Given the description of an element on the screen output the (x, y) to click on. 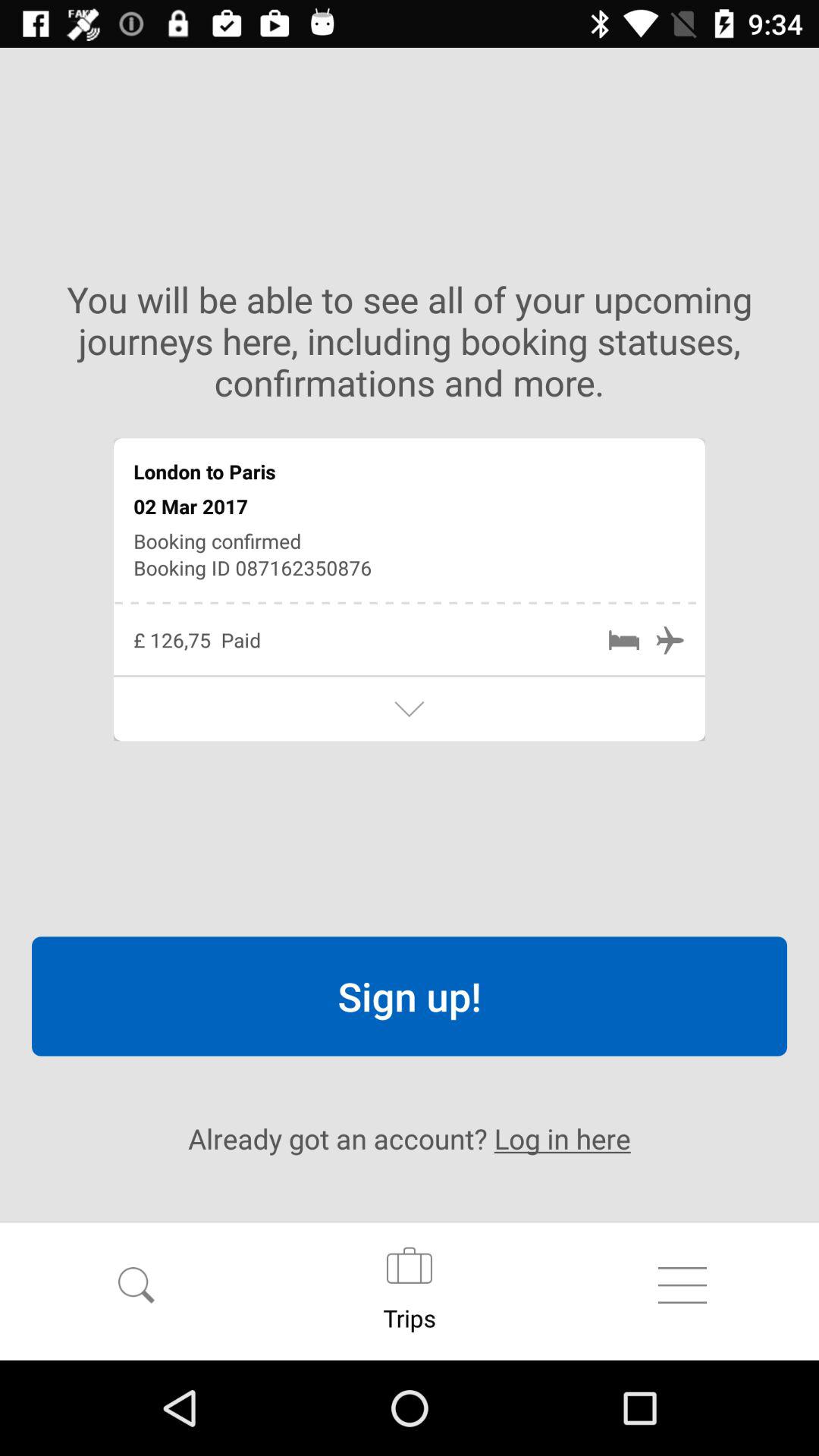
scroll until sign up! (409, 996)
